Given the description of an element on the screen output the (x, y) to click on. 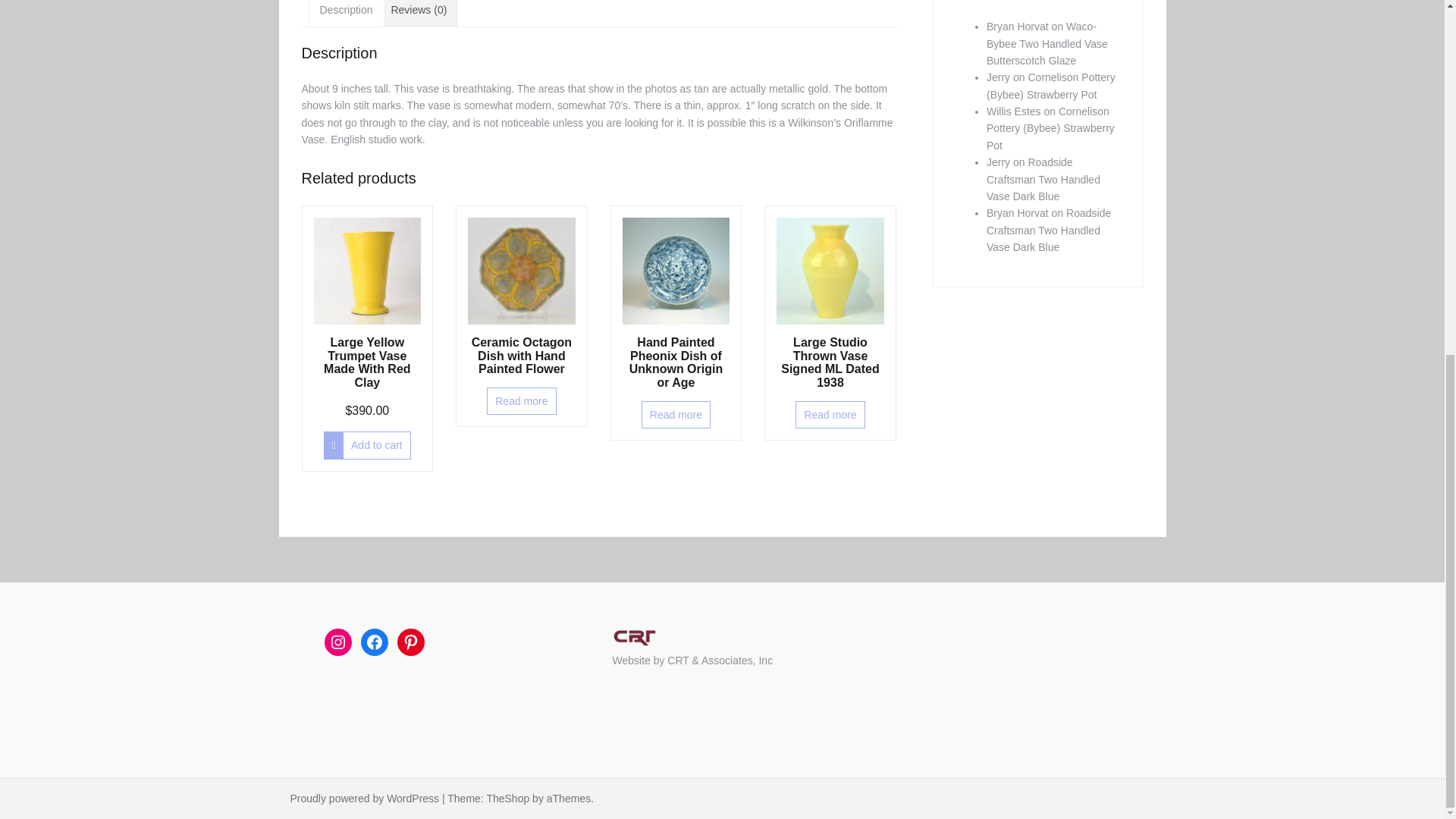
Description (346, 12)
